Given the description of an element on the screen output the (x, y) to click on. 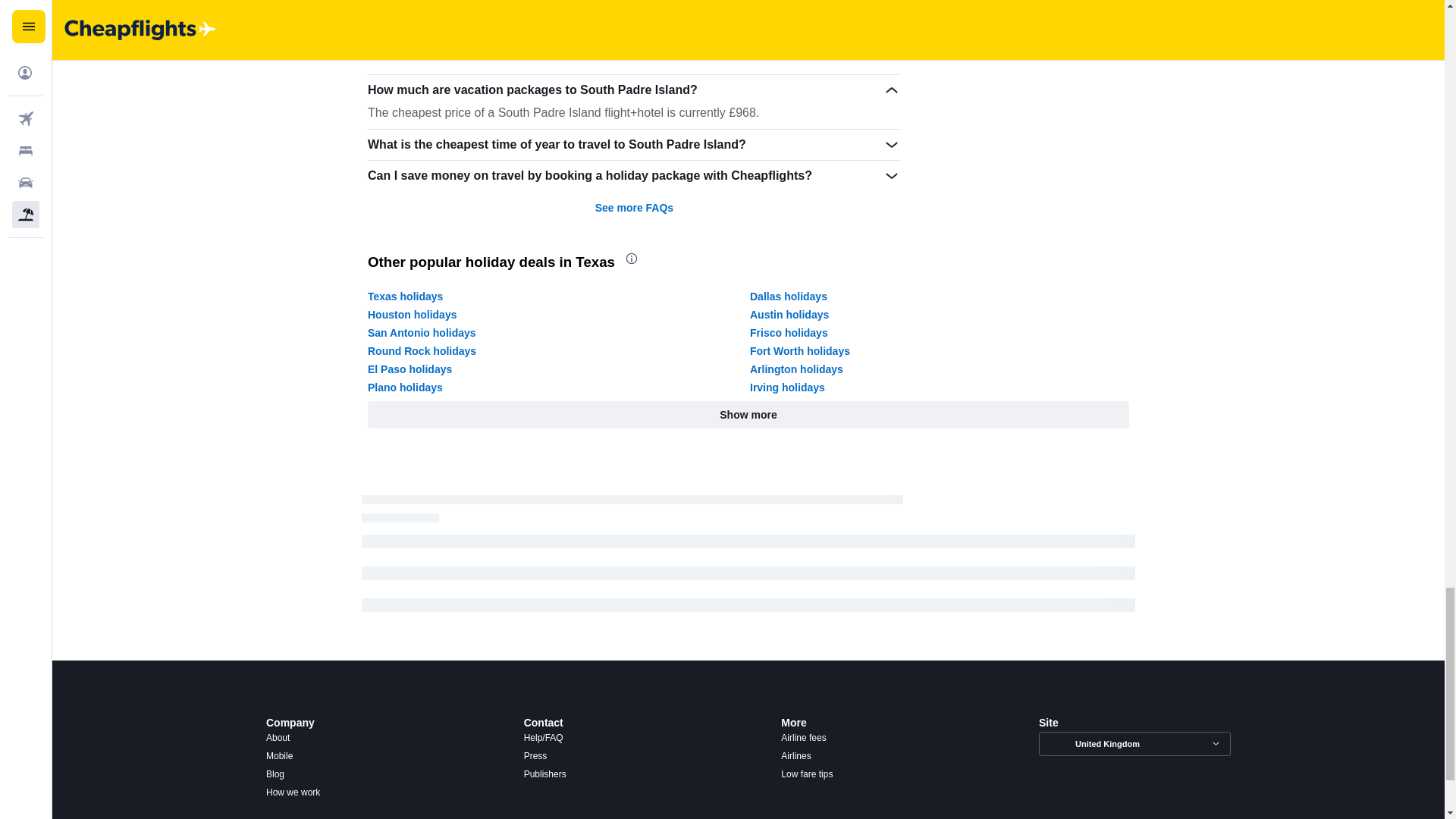
Texas holidays (405, 296)
Arlington holidays (796, 369)
Irving holidays (787, 387)
Austin holidays (788, 314)
Houston holidays (412, 314)
Frisco holidays (788, 332)
El Paso holidays (409, 369)
Fort Worth holidays (799, 350)
Plano holidays (405, 387)
Round Rock holidays (422, 350)
